Given the description of an element on the screen output the (x, y) to click on. 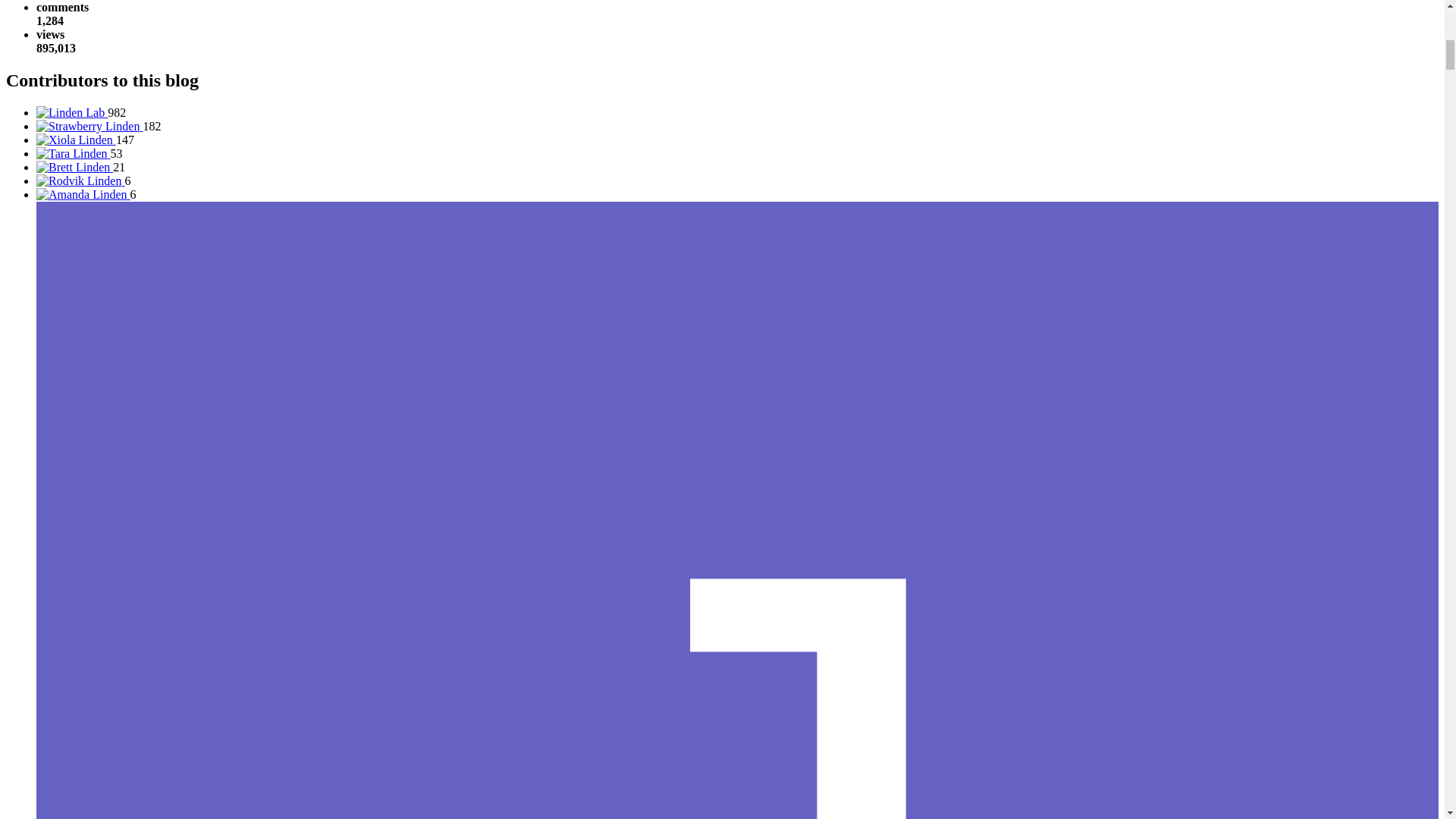
Rodvik Linden (83, 180)
Tara Linden (79, 153)
Go to Brett Linden's profile (74, 166)
Xiola Linden (84, 139)
Linden Lab (80, 112)
Go to Xiola Linden's profile (76, 139)
Strawberry Linden (98, 125)
Go to Strawberry Linden's profile (89, 125)
Go to Linden Lab's profile (71, 112)
Go to Tara Linden's profile (73, 153)
Go to Rodvik Linden's profile (79, 180)
Brett Linden (80, 166)
